Given the description of an element on the screen output the (x, y) to click on. 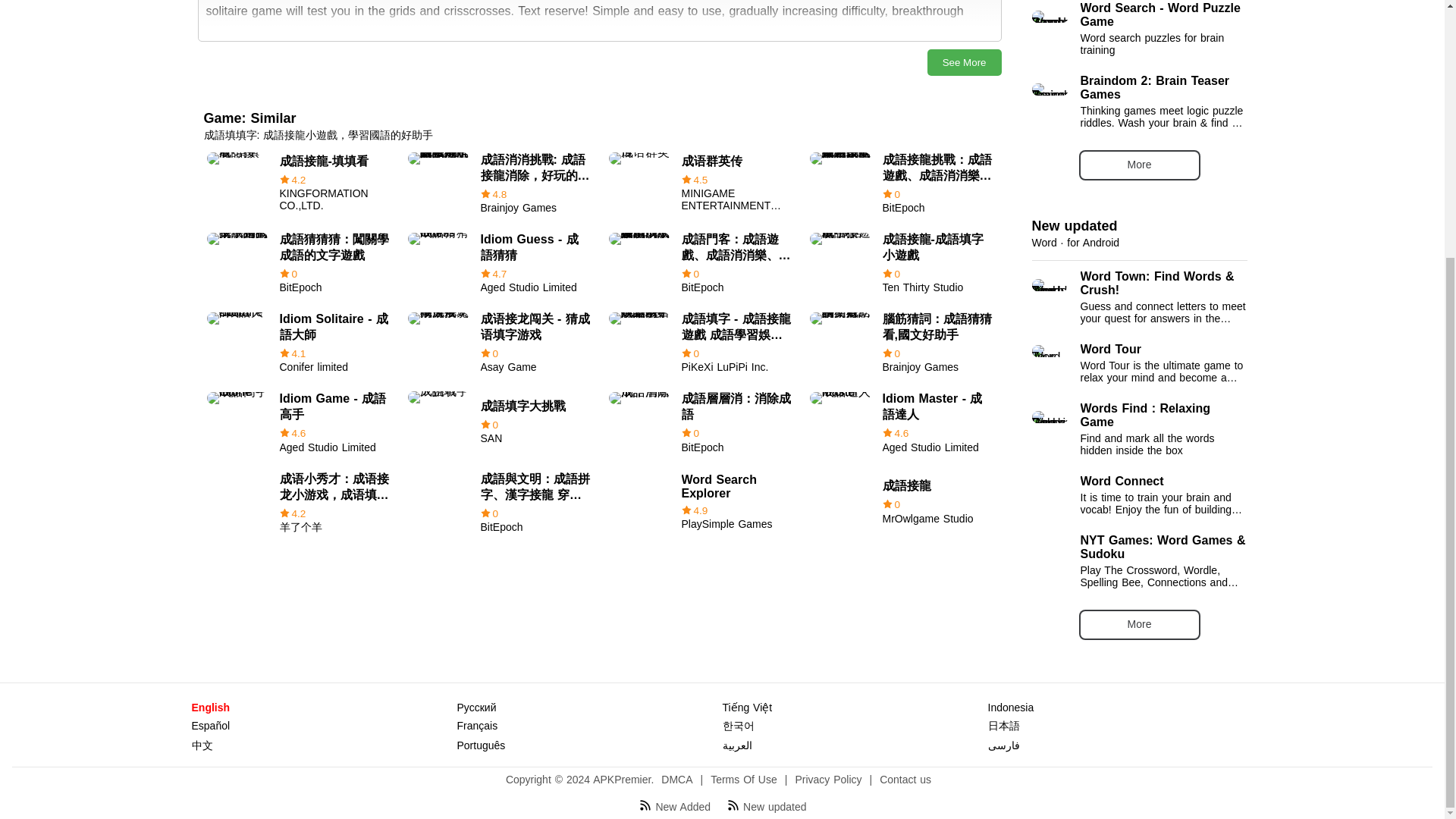
See More (699, 501)
More (964, 62)
